Given the description of an element on the screen output the (x, y) to click on. 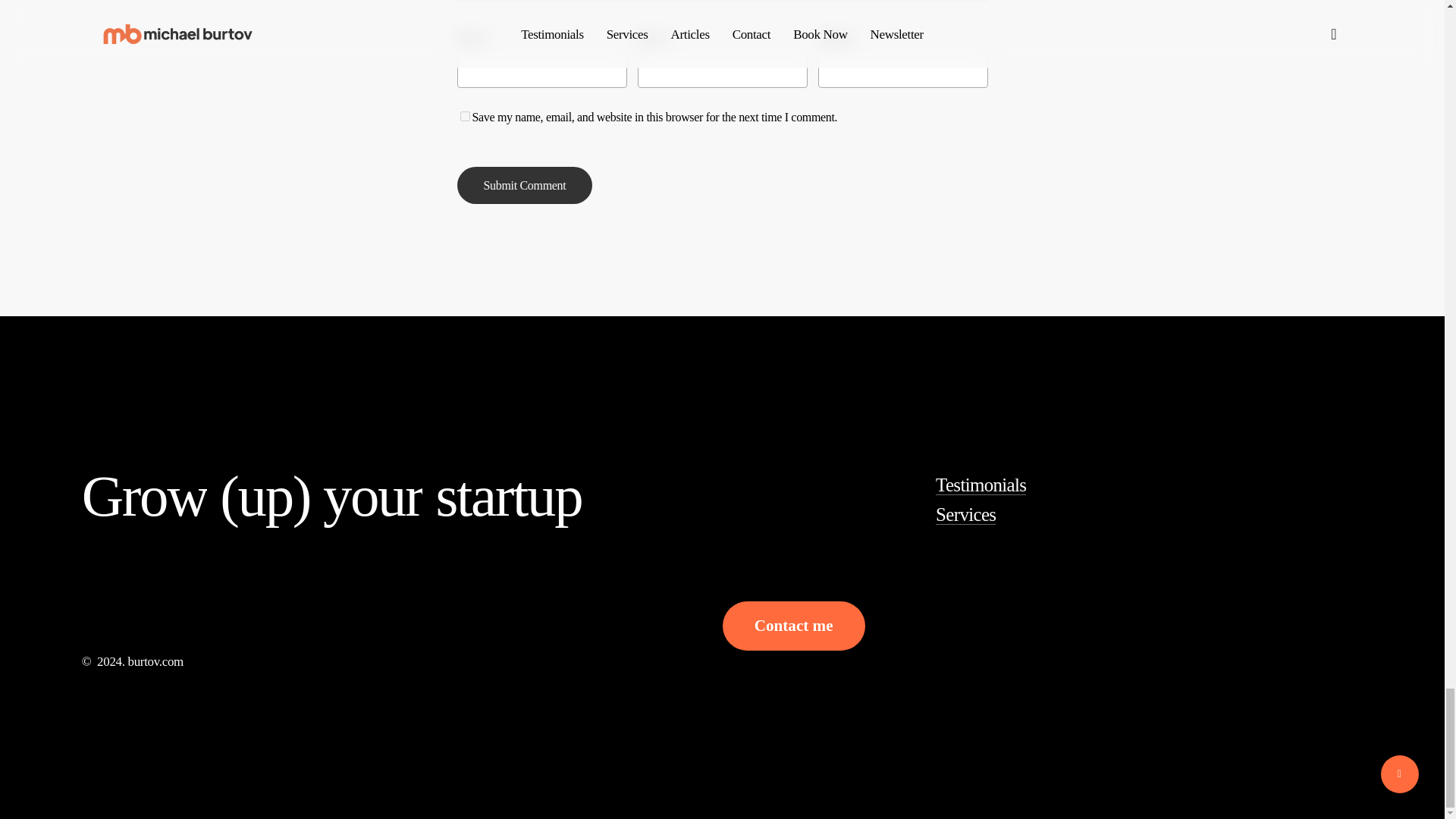
Submit Comment (524, 185)
yes (464, 116)
Services (965, 514)
Contact me (793, 625)
Submit Comment (524, 185)
Testimonials (981, 485)
